Given the description of an element on the screen output the (x, y) to click on. 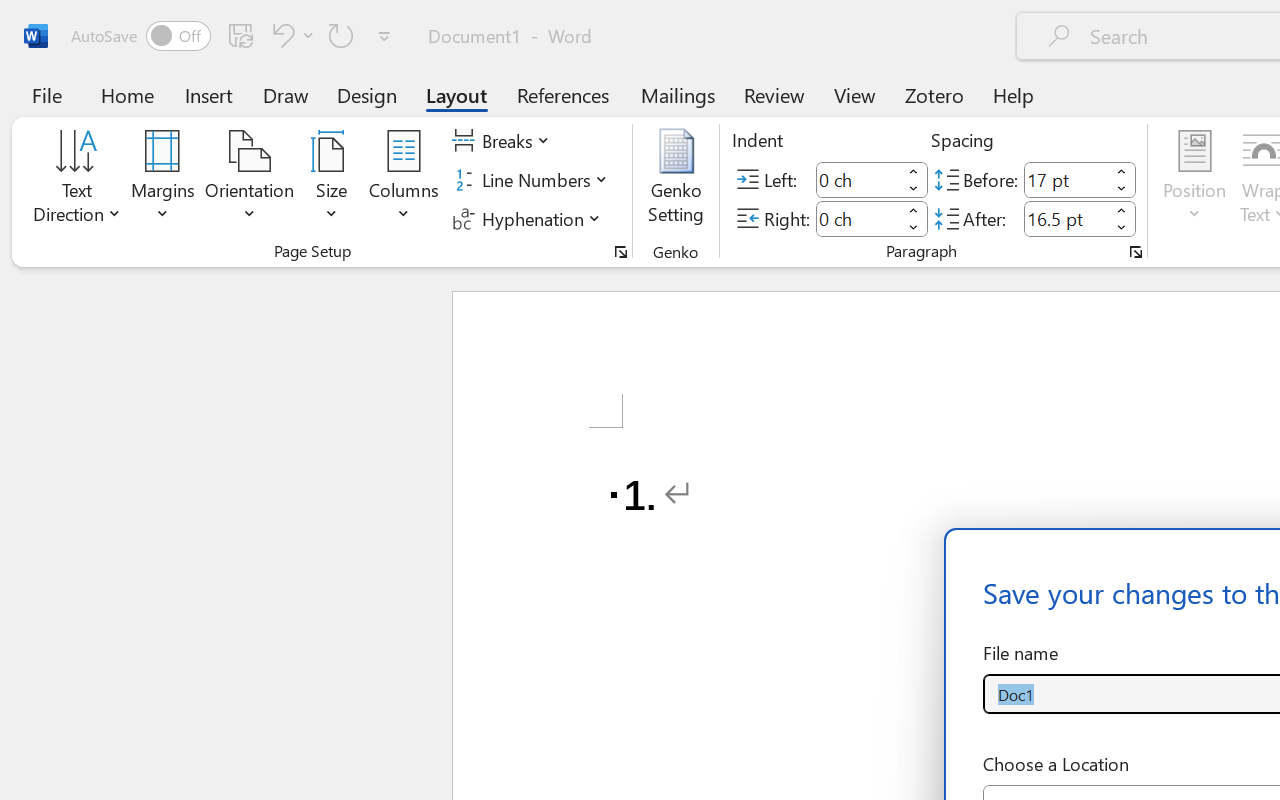
Page Setup... (621, 252)
Margins (163, 179)
Orientation (250, 179)
Line Numbers (532, 179)
Repeat Doc Close (341, 35)
Breaks (504, 141)
